Given the description of an element on the screen output the (x, y) to click on. 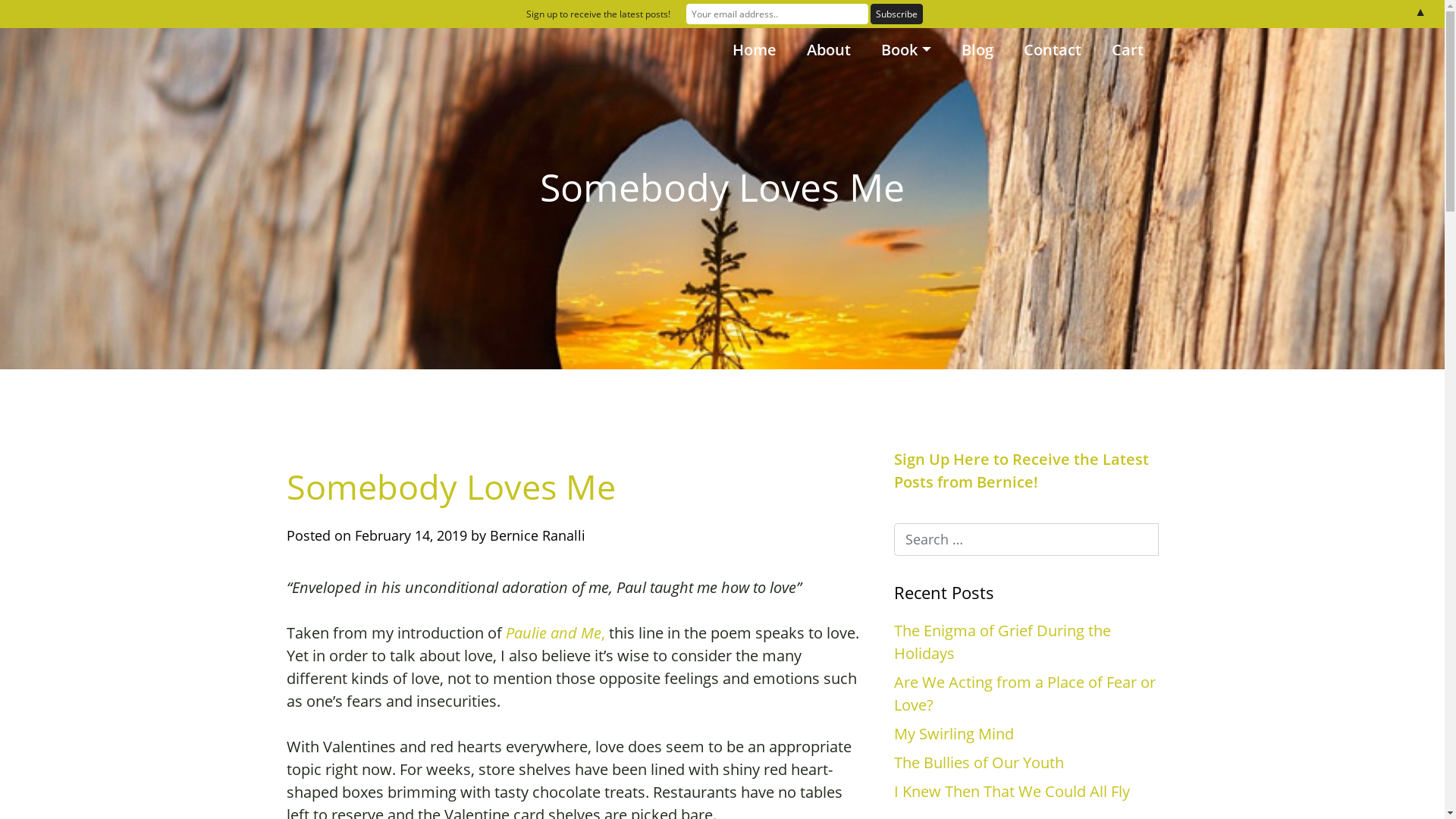
Contact Element type: text (1052, 49)
Sign Up Here to Receive the Latest Posts from Bernice! Element type: text (1021, 470)
Paulie and Me Element type: text (552, 631)
February 14, 2019 Element type: text (410, 535)
The Bullies of Our Youth Element type: text (978, 762)
, Element type: text (602, 631)
About Element type: text (828, 49)
The Enigma of Grief During the Holidays Element type: text (1002, 641)
Book Element type: text (905, 49)
My Swirling Mind Element type: text (953, 733)
Bernice Ranalli Element type: text (537, 535)
Subscribe Element type: text (896, 13)
I Knew Then That We Could All Fly Element type: text (1011, 791)
Home Element type: text (754, 49)
Blog Element type: text (977, 49)
Cart Element type: text (1127, 49)
Are We Acting from a Place of Fear or Love? Element type: text (1024, 693)
